Given the description of an element on the screen output the (x, y) to click on. 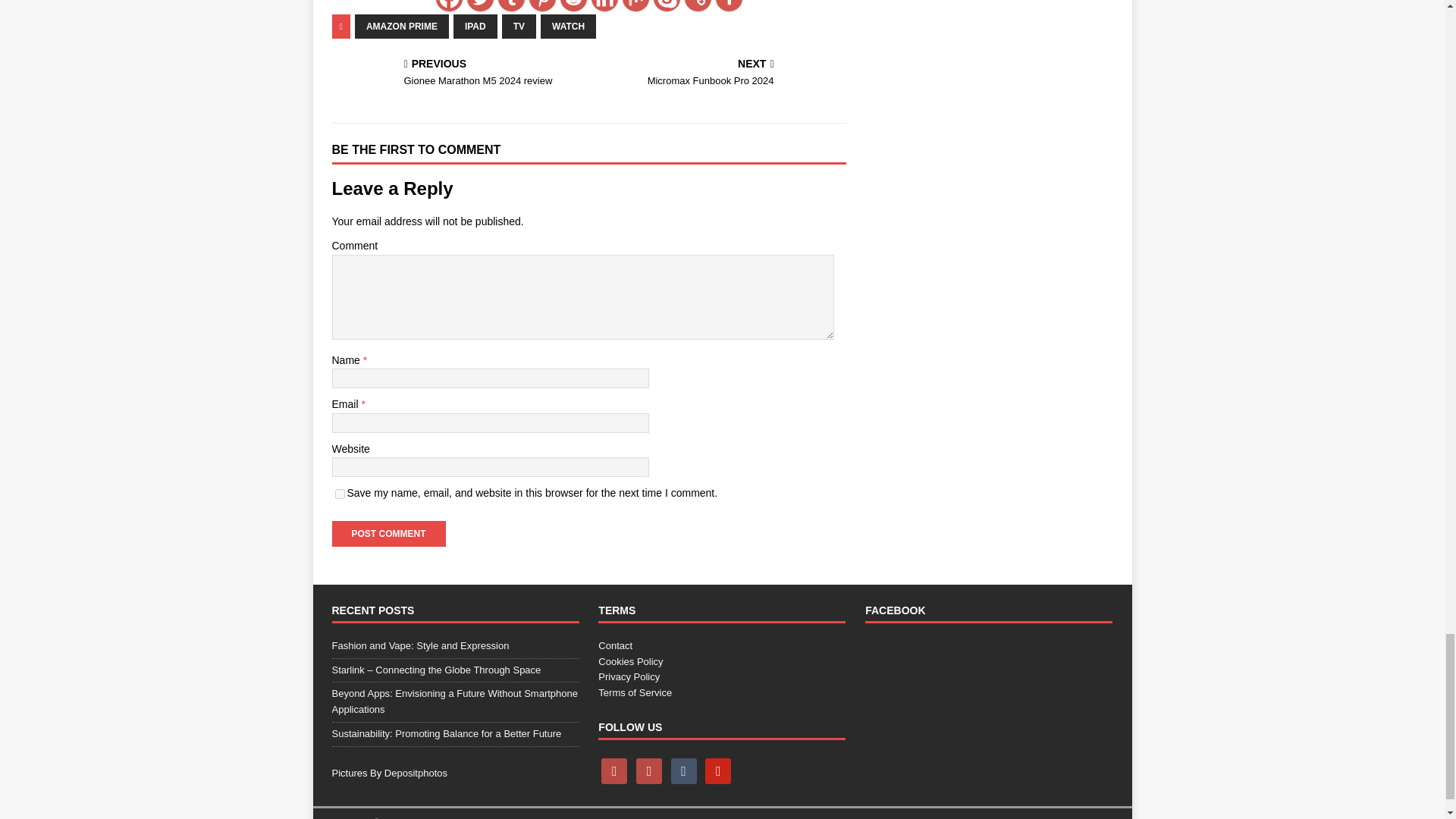
AMAZON PRIME (401, 26)
yes (339, 493)
Post Comment (388, 533)
TV (518, 26)
WATCH (567, 26)
IPAD (474, 26)
